Given the description of an element on the screen output the (x, y) to click on. 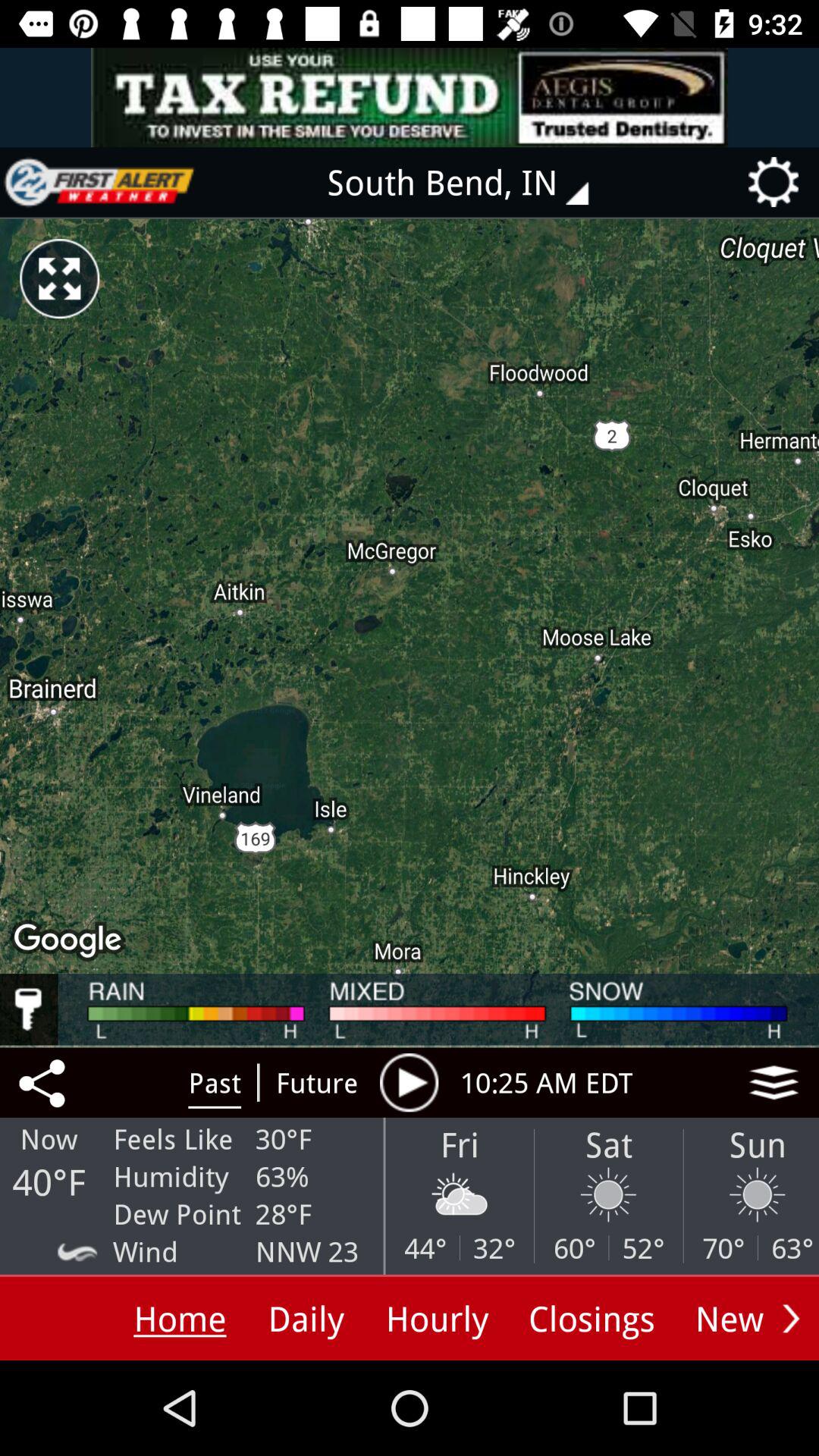
go to next page (791, 1318)
